Given the description of an element on the screen output the (x, y) to click on. 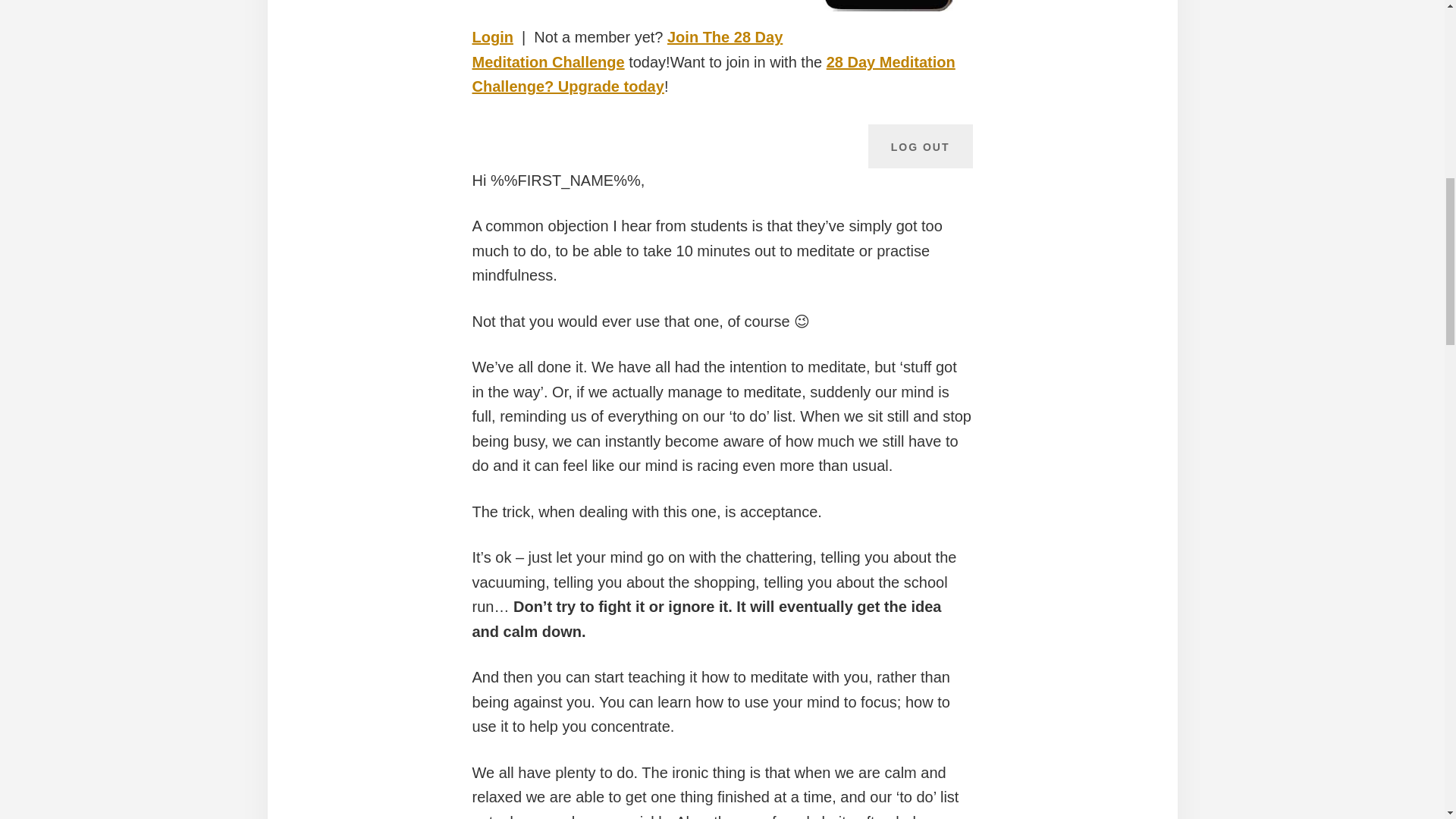
Join The 28 Day Meditation Challenge (627, 49)
Login (491, 36)
Log Out (919, 146)
28 Day Meditation Challenge? Upgrade today (713, 74)
